Given the description of an element on the screen output the (x, y) to click on. 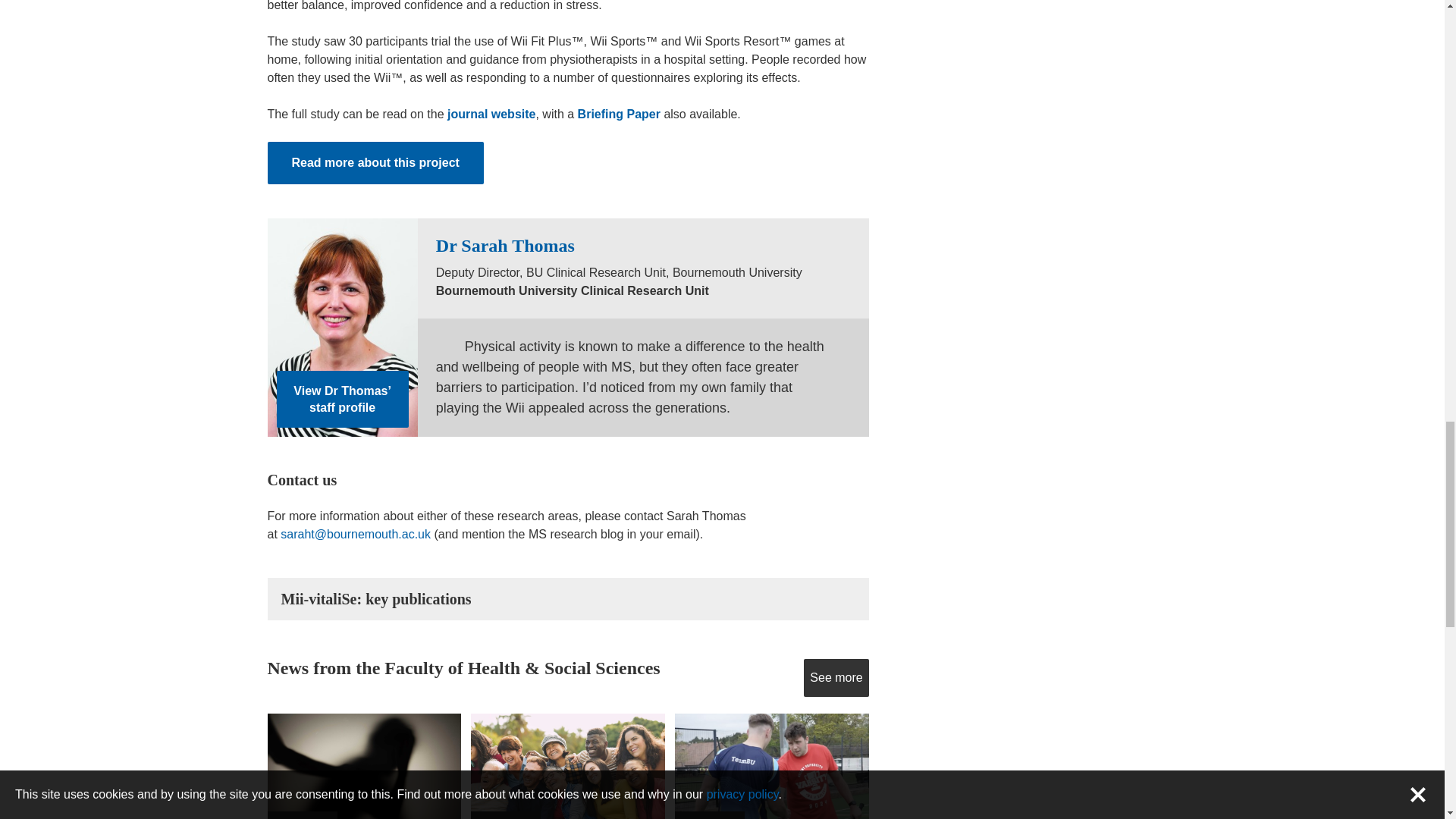
A figure in shadow with their head in their hands (363, 766)
Solent and BU Men's Tennis (771, 766)
A group of older people sat outside laughing (566, 766)
